Given the description of an element on the screen output the (x, y) to click on. 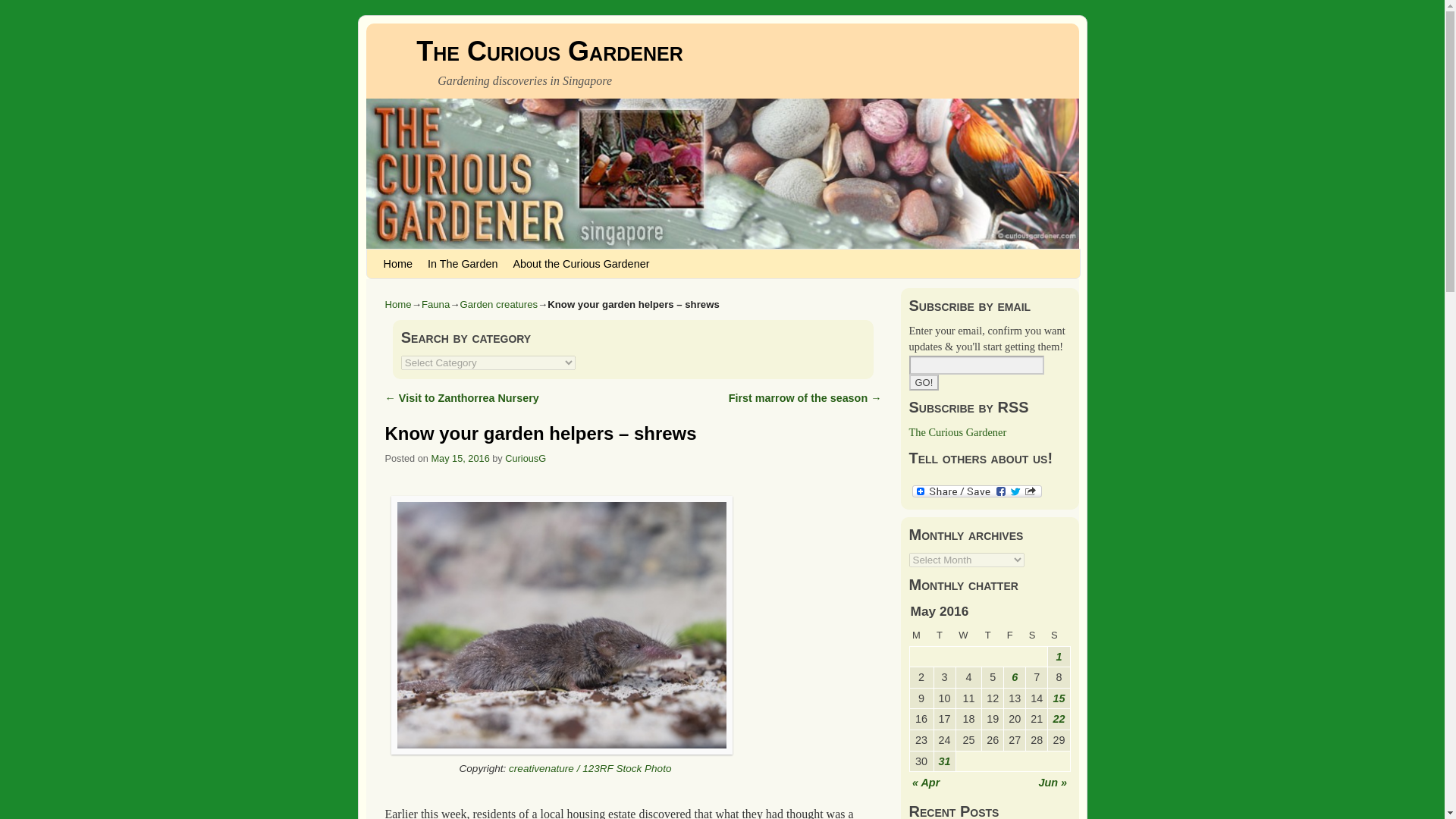
Skip to primary content (408, 255)
Fauna (435, 304)
View all posts in Fauna (435, 304)
GO! (923, 382)
Home (398, 304)
Skip to secondary content (412, 255)
The Curious Gardener (957, 431)
May 15, 2016 (459, 458)
View all posts by CuriousG (525, 458)
CuriousG (525, 458)
In The Garden (462, 263)
GO! (923, 382)
Garden creatures (498, 304)
10:46 pm (459, 458)
Home (397, 263)
